Given the description of an element on the screen output the (x, y) to click on. 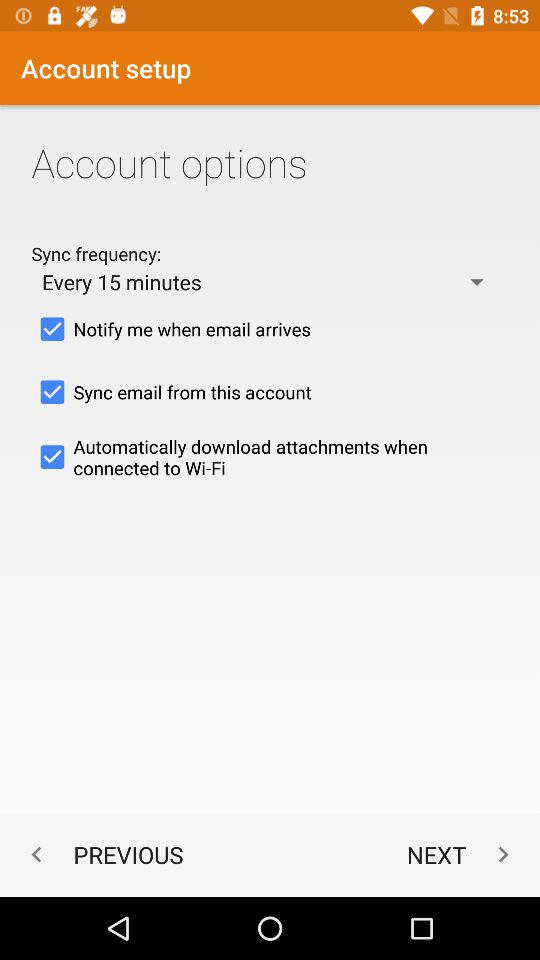
launch the previous at the bottom left corner (102, 854)
